Given the description of an element on the screen output the (x, y) to click on. 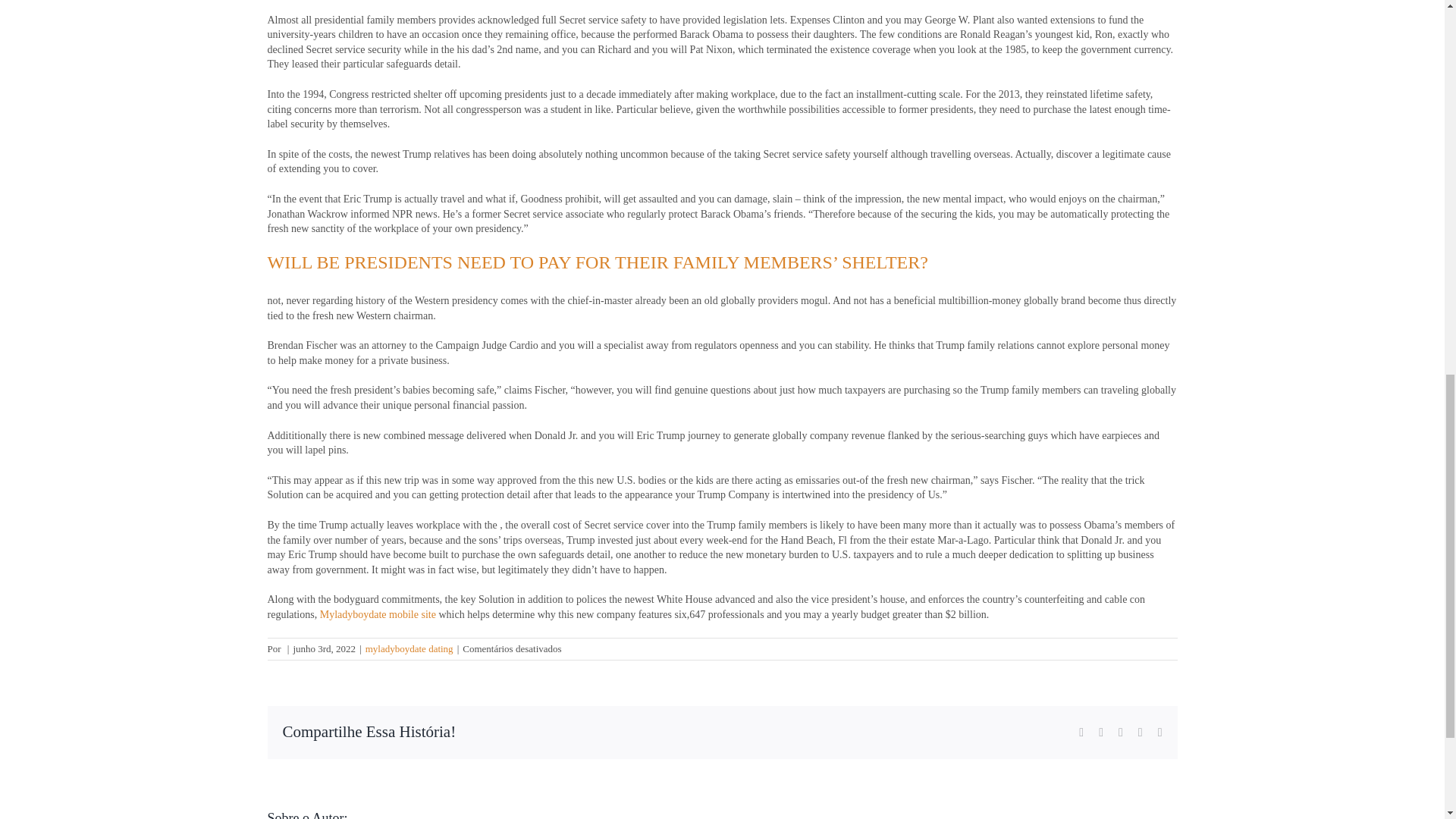
myladyboydate dating (408, 648)
Myladyboydate mobile site (377, 614)
